Given the description of an element on the screen output the (x, y) to click on. 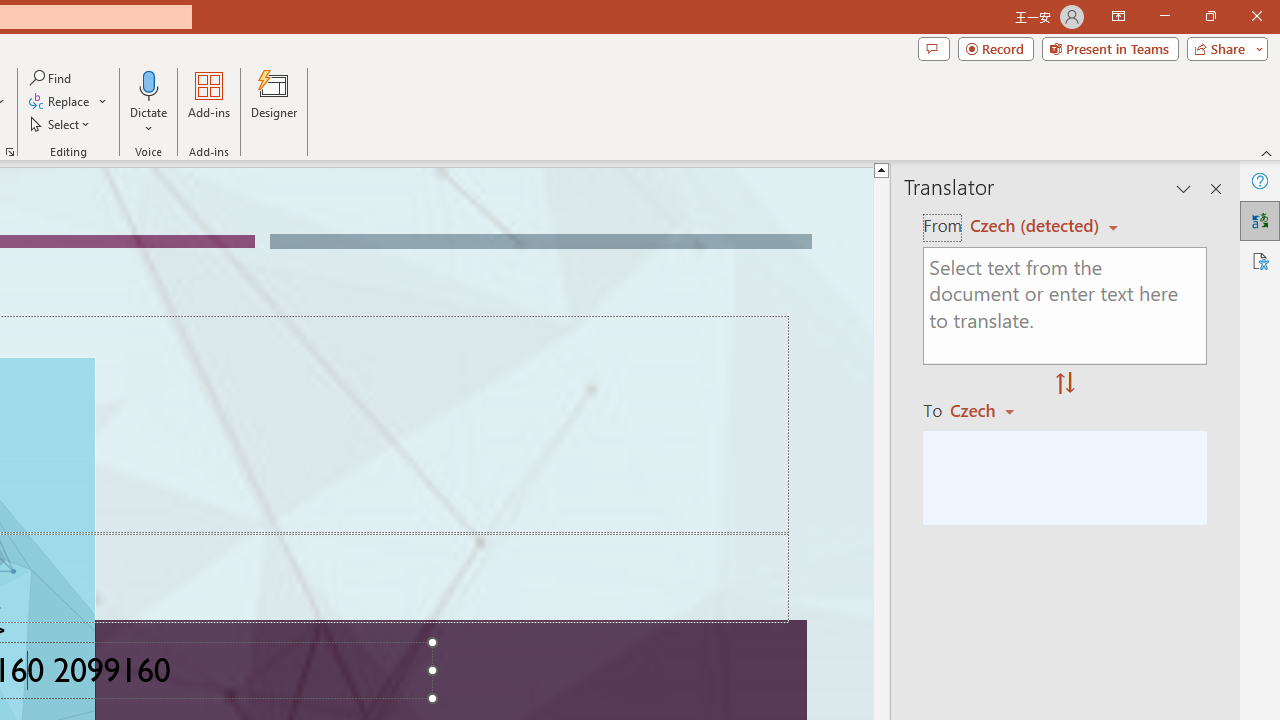
Translator (1260, 220)
Page up (880, 337)
Czech (detected) (1037, 225)
Swap "from" and "to" languages. (1065, 383)
